Given the description of an element on the screen output the (x, y) to click on. 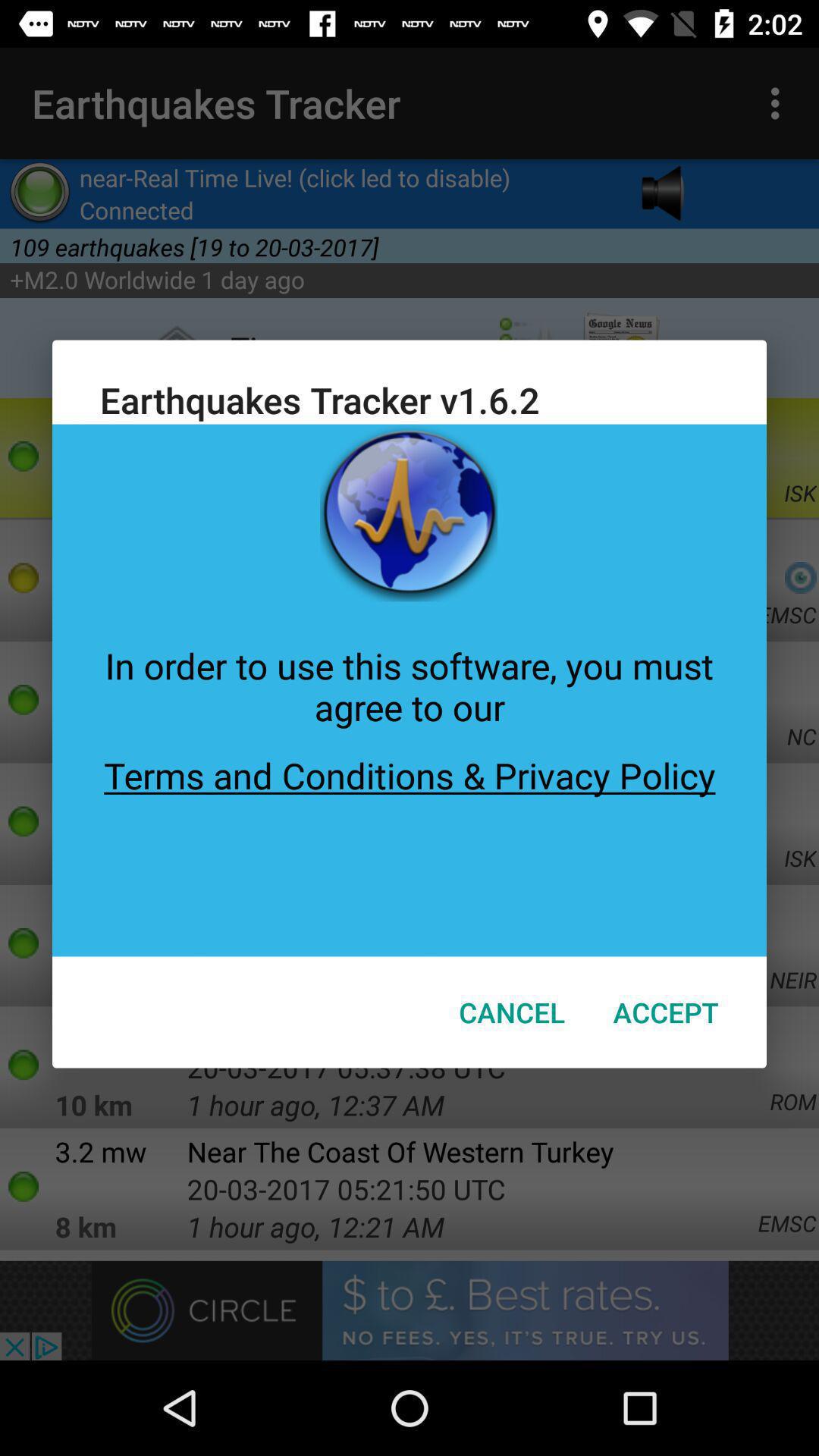
launch the terms and conditions icon (409, 843)
